Given the description of an element on the screen output the (x, y) to click on. 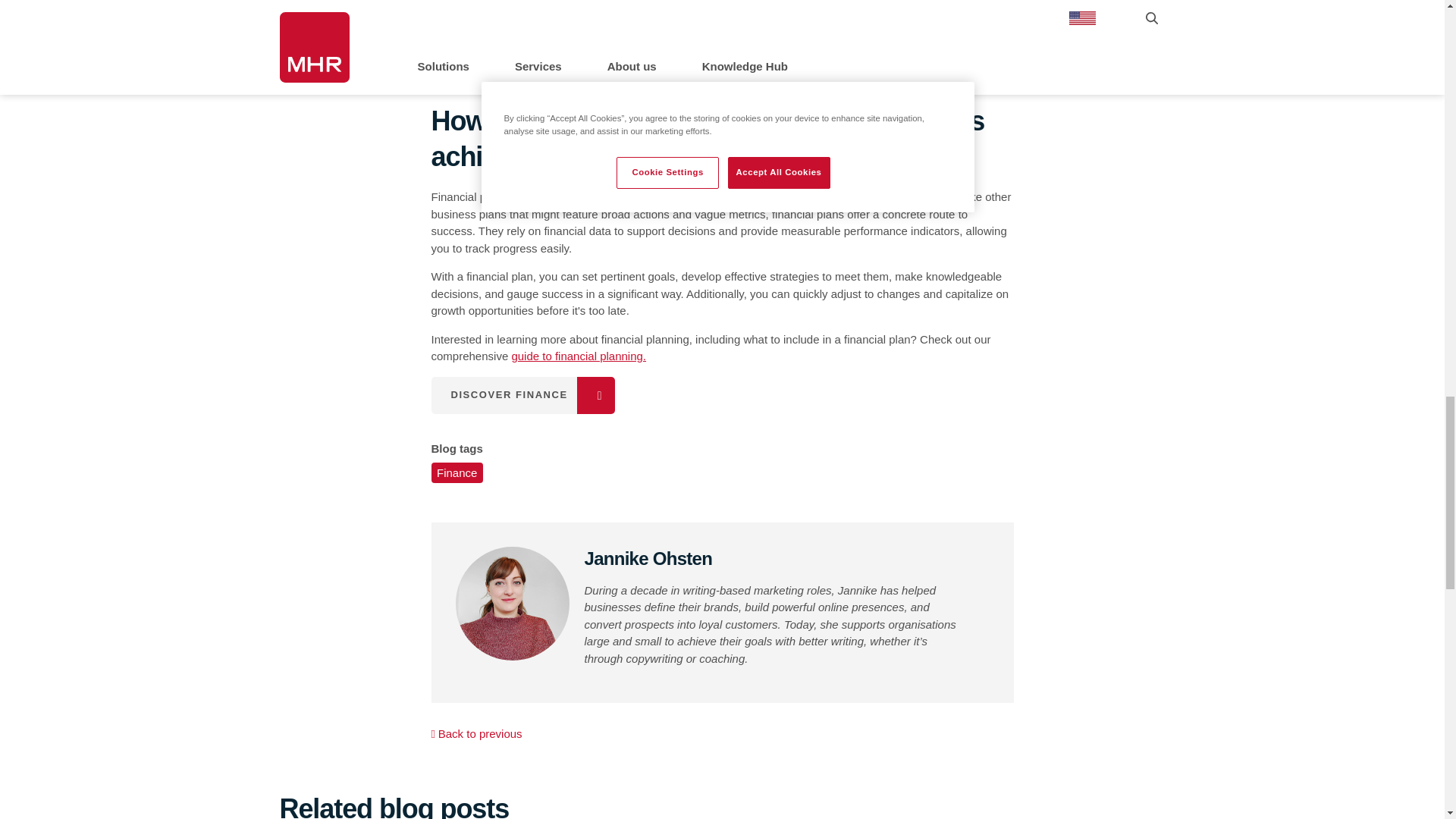
DISCOVER FINANCE (522, 395)
Finance (455, 472)
guide to financial planning. (578, 355)
Back to previous (475, 733)
